Given the description of an element on the screen output the (x, y) to click on. 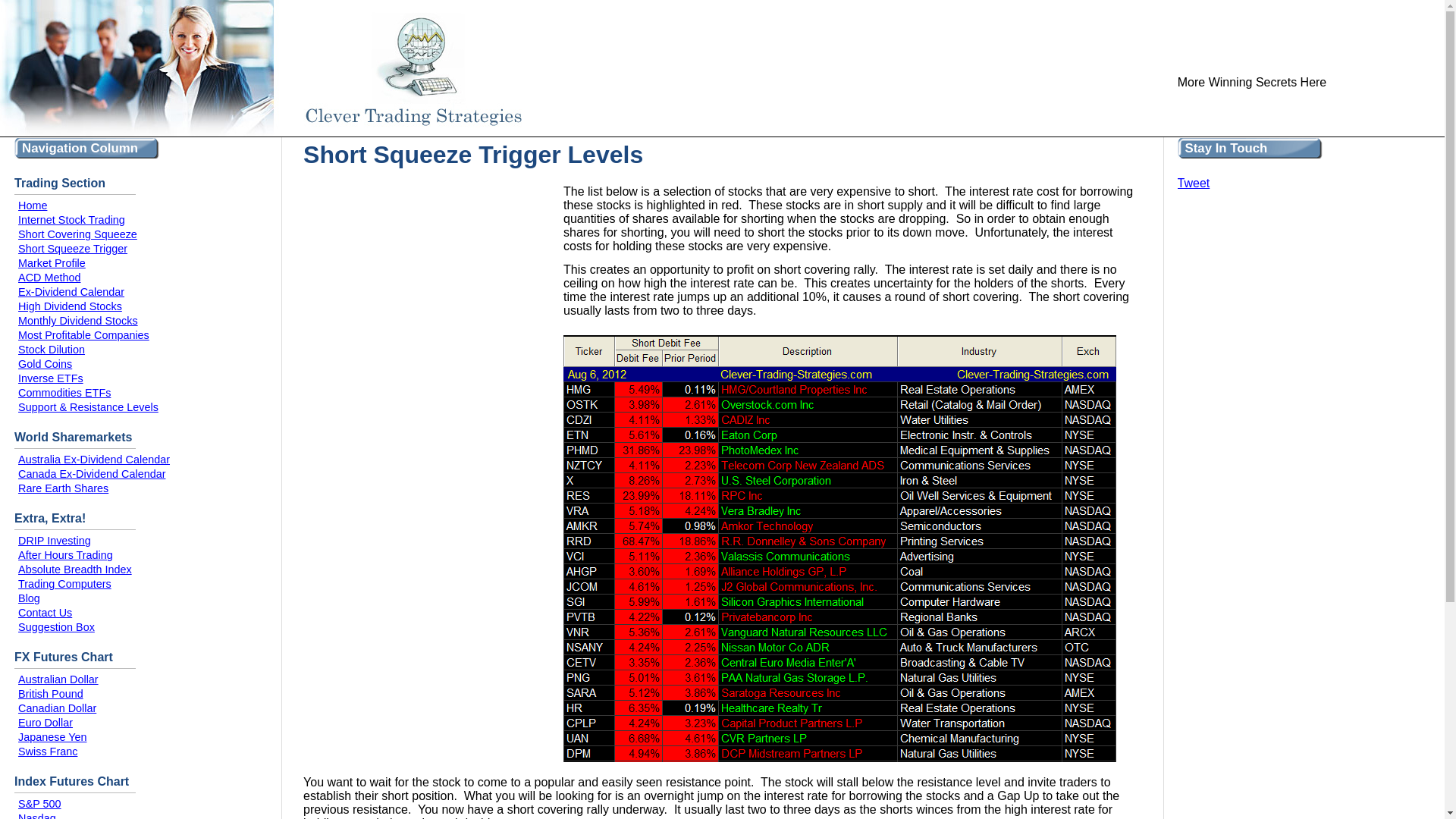
Australia Ex-Dividend Calendar (93, 459)
Japanese Yen (51, 736)
Monthly Dividend Stocks (77, 320)
Clever Trading Strategies (259, 67)
Ex-Dividend Calendar (70, 291)
Canada Ex-Dividend Calendar (91, 473)
Swiss Franc (47, 751)
Short Covering Squeeze (76, 234)
Home (31, 205)
Contact Us (44, 612)
